Given the description of an element on the screen output the (x, y) to click on. 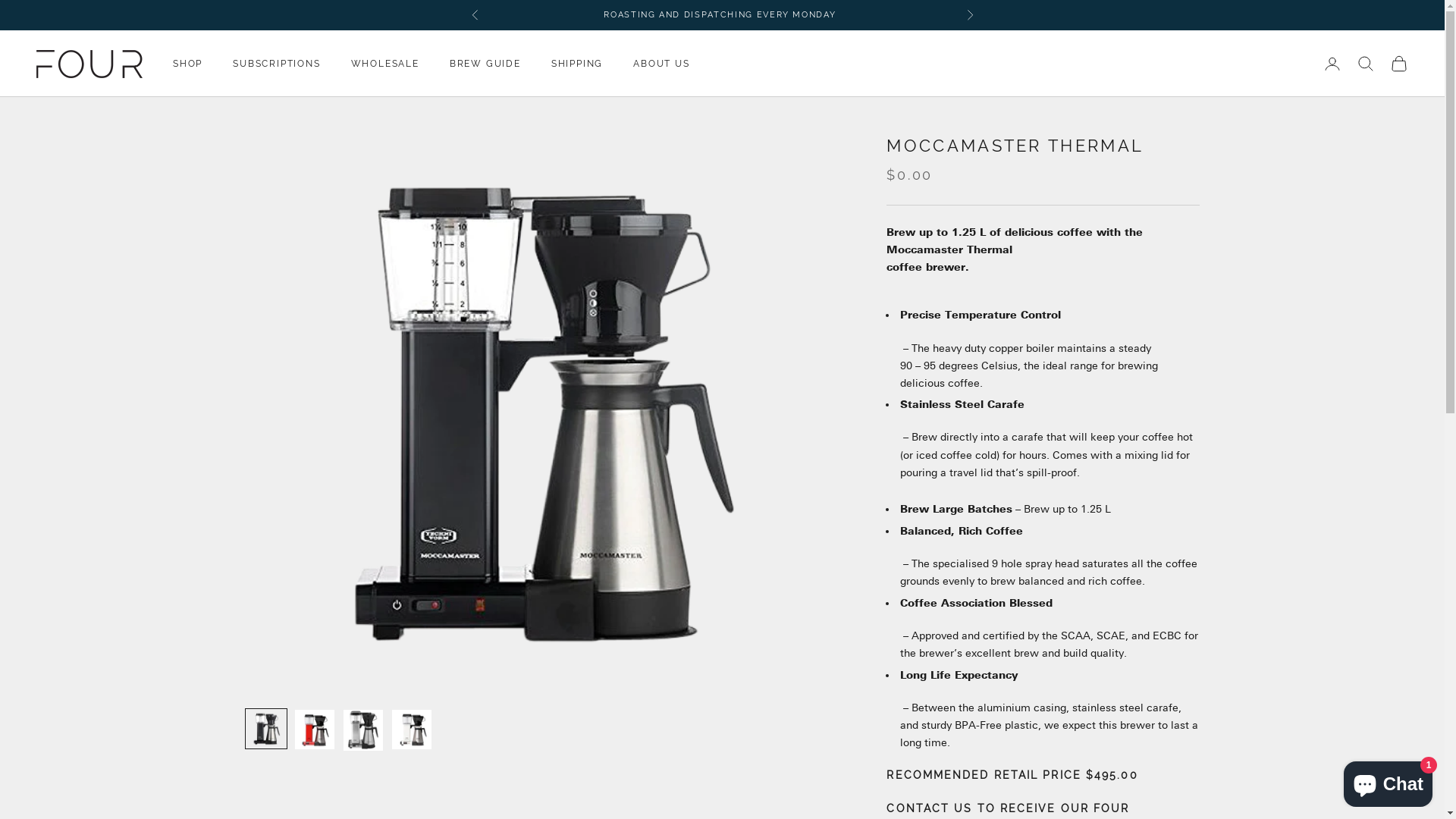
Previous Element type: text (474, 14)
Open cart Element type: text (1399, 63)
ABOUT US Element type: text (661, 63)
Next Element type: text (968, 14)
Shopify online store chat Element type: hover (1388, 780)
Four Coffee Element type: text (89, 64)
SHIPPING Element type: text (576, 63)
FREE SHIPPING Element type: text (642, 14)
WHOLESALE Element type: text (385, 63)
BREW GUIDE Element type: text (484, 63)
Open search Element type: text (1365, 63)
Open account page Element type: text (1332, 63)
